Given the description of an element on the screen output the (x, y) to click on. 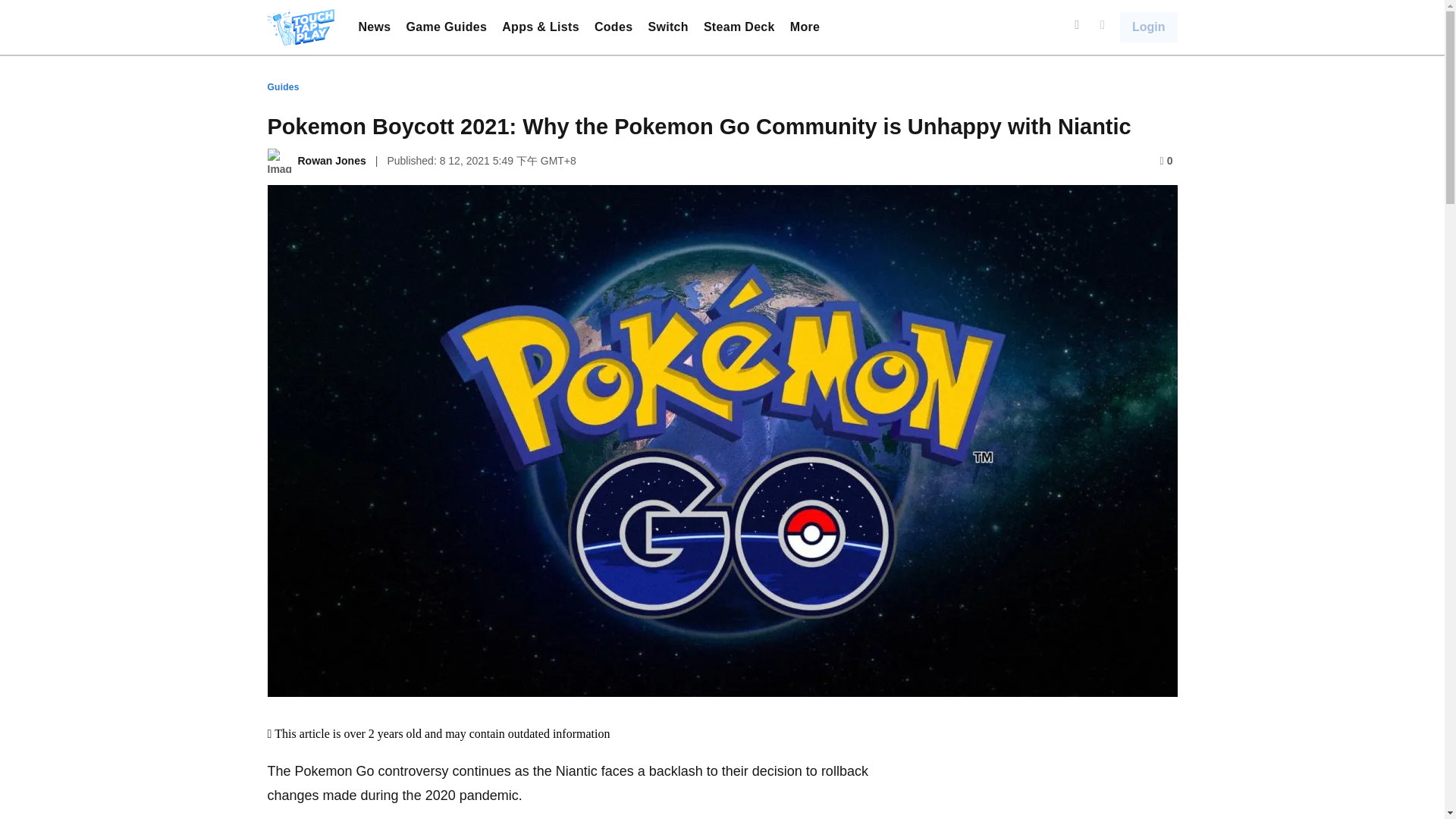
Steam Deck (738, 26)
News (374, 26)
Codes (613, 26)
Login (1148, 27)
Game Guides (446, 26)
Switch (667, 26)
